Given the description of an element on the screen output the (x, y) to click on. 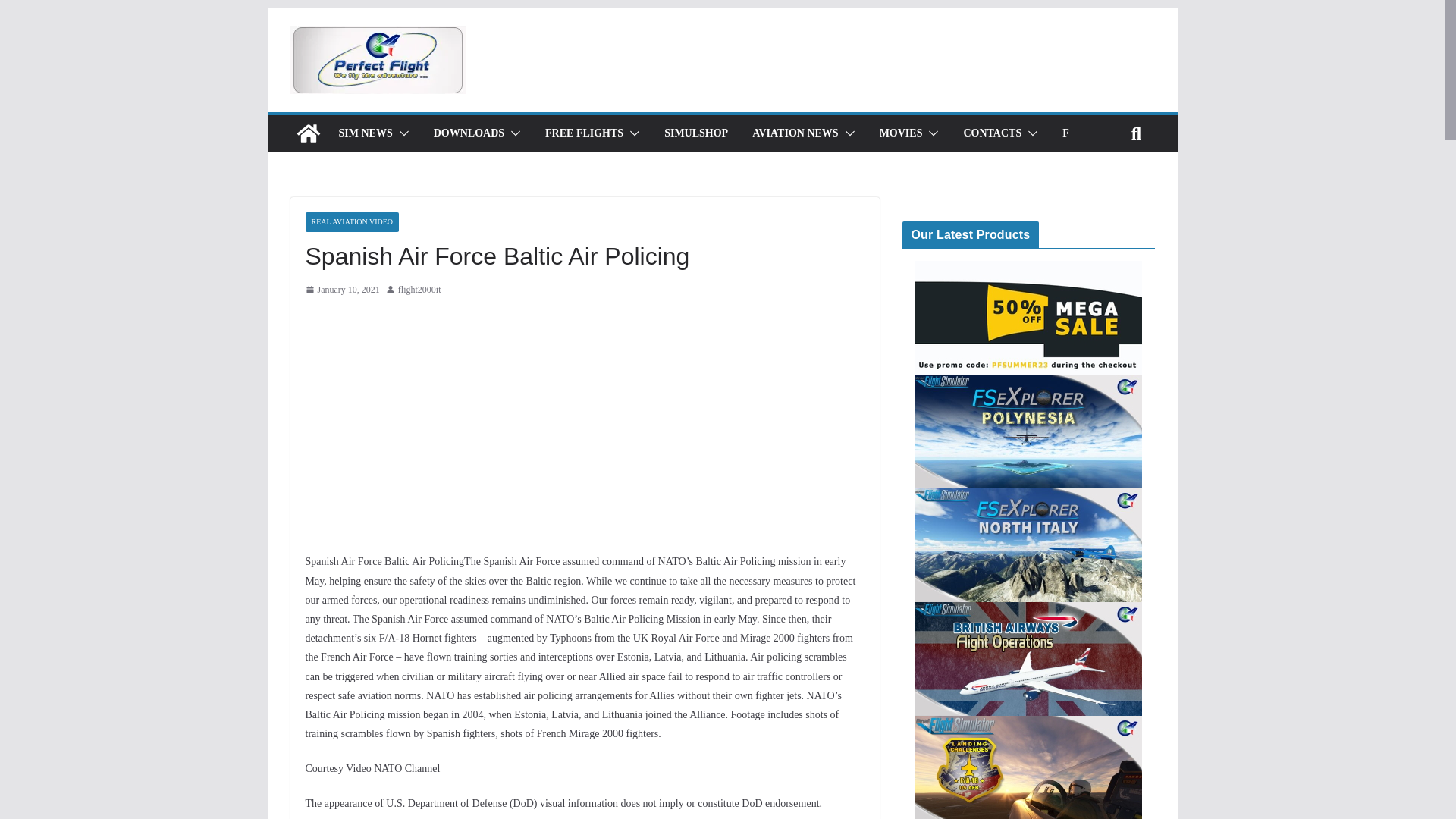
FREE FLIGHTS (583, 133)
DOWNLOADS (468, 133)
AVIATION NEWS (795, 133)
SIMULSHOP (695, 133)
flight2000it (419, 289)
Welcome to Perfect Flight (307, 133)
MOVIES (901, 133)
10:14 (341, 289)
REAL AVIATION VIDEO (351, 221)
